Given the description of an element on the screen output the (x, y) to click on. 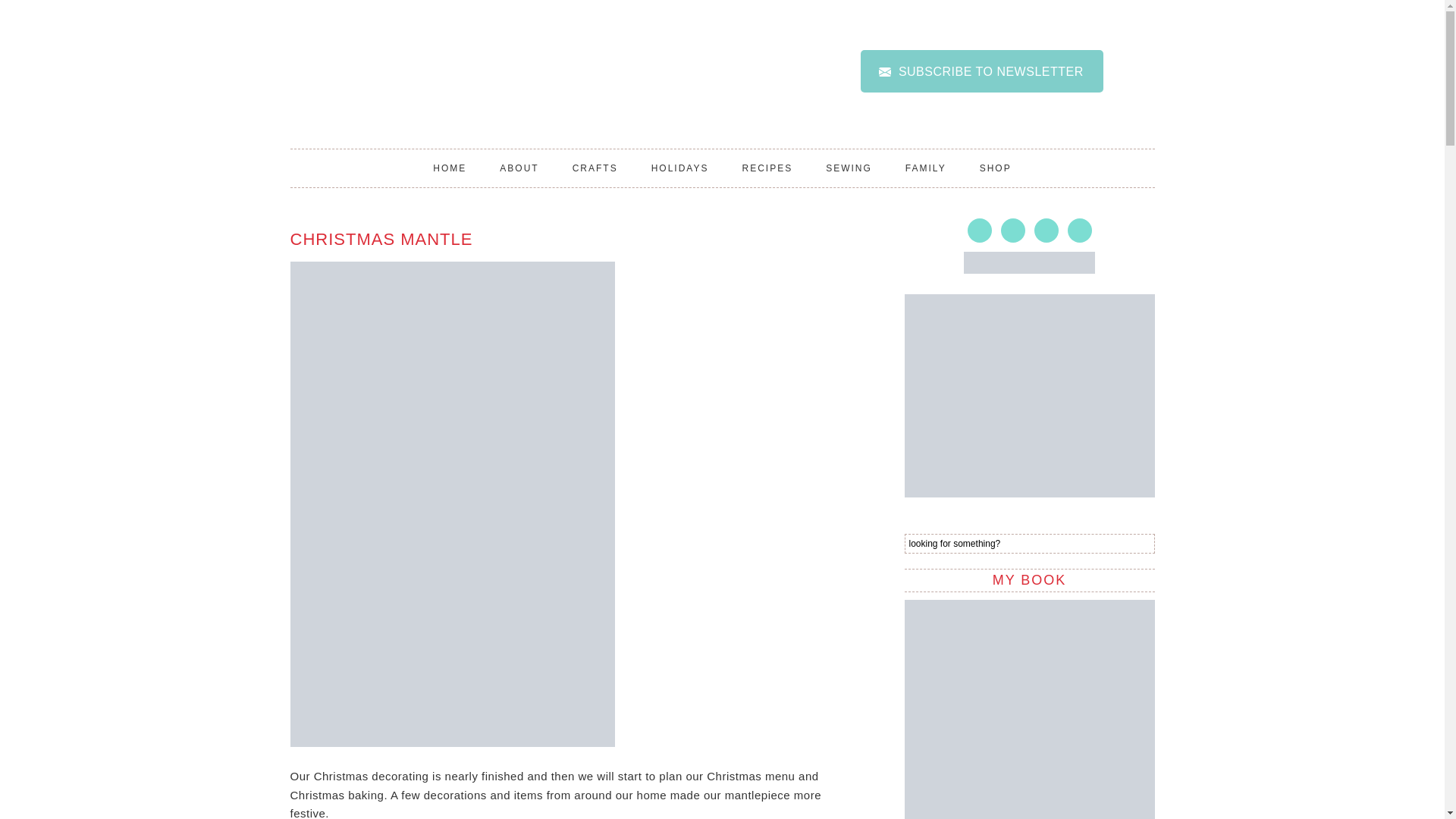
Follow A Spoonful of Sugar on Bloglovin (1028, 269)
HOME (449, 168)
RECIPES (767, 168)
CRAFTS (595, 168)
HOLIDAYS (679, 168)
ABOUT (518, 168)
SUBSCRIBE TO NEWSLETTER (981, 70)
A SPOONFUL OF SUGAR (548, 86)
